Given the description of an element on the screen output the (x, y) to click on. 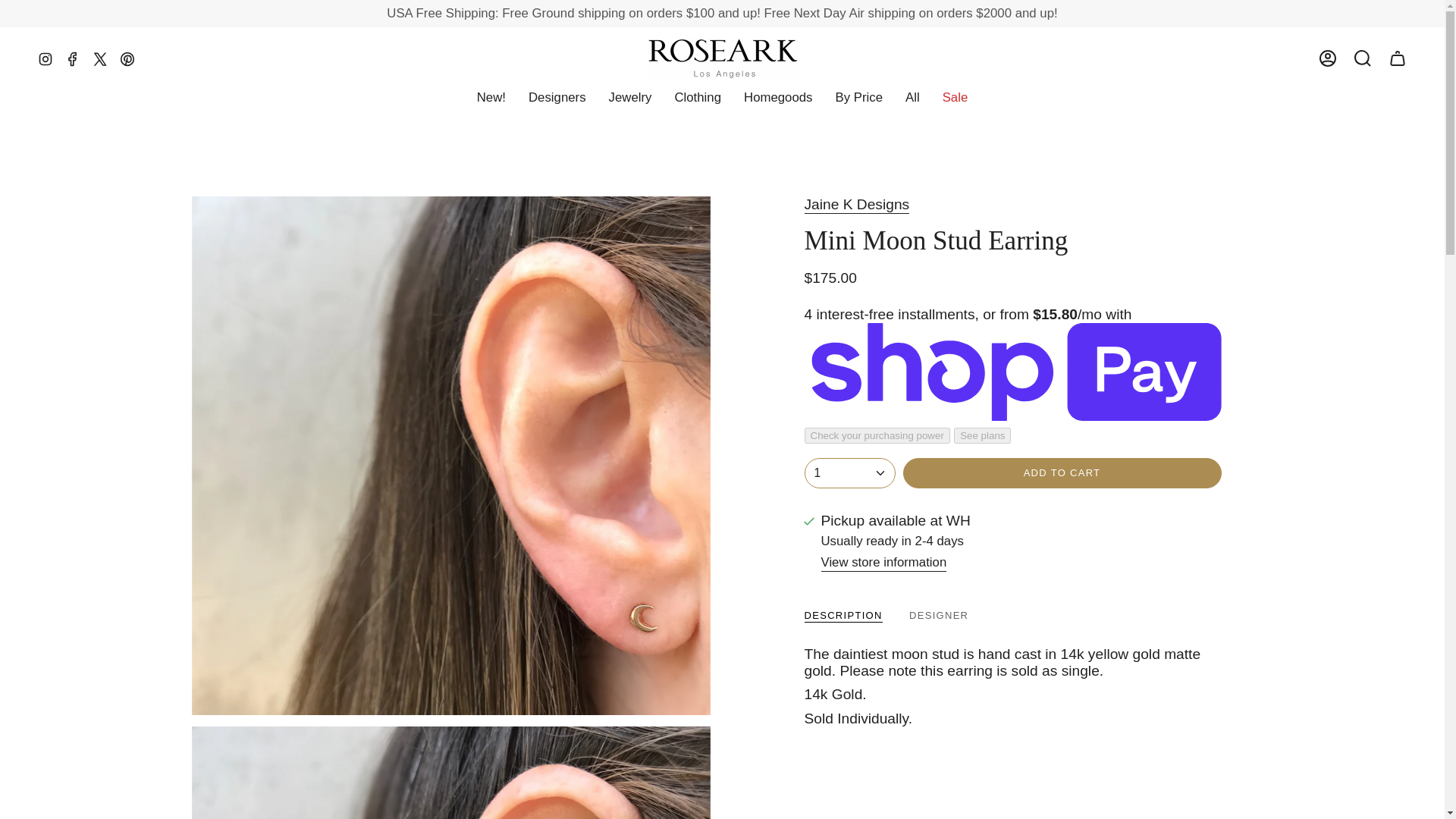
Search (1362, 58)
Facebook (72, 57)
Roseark on Facebook (72, 57)
My Account (1327, 58)
New! (490, 97)
Jewelry (629, 97)
Pinterest (127, 57)
Designers (556, 97)
Account (1327, 58)
Roseark on Twitter (100, 57)
